Given the description of an element on the screen output the (x, y) to click on. 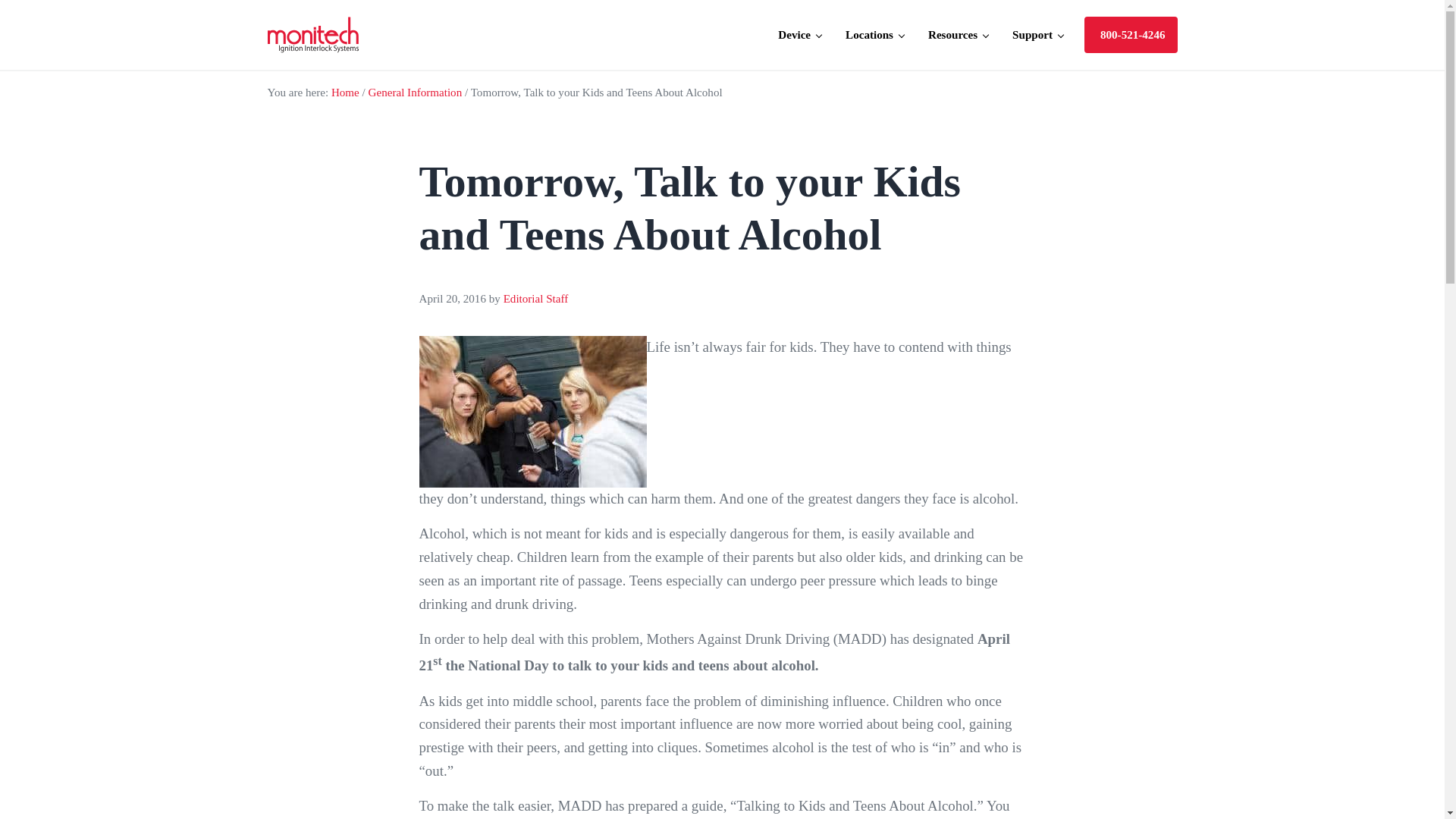
Support (1037, 34)
800-521-4246 (1130, 35)
Editorial Staff (536, 298)
Locations (873, 34)
Home (345, 92)
talk-to-your-kids-about-alcohol (722, 423)
Resources (957, 34)
General Information (415, 92)
Device (798, 34)
